Given the description of an element on the screen output the (x, y) to click on. 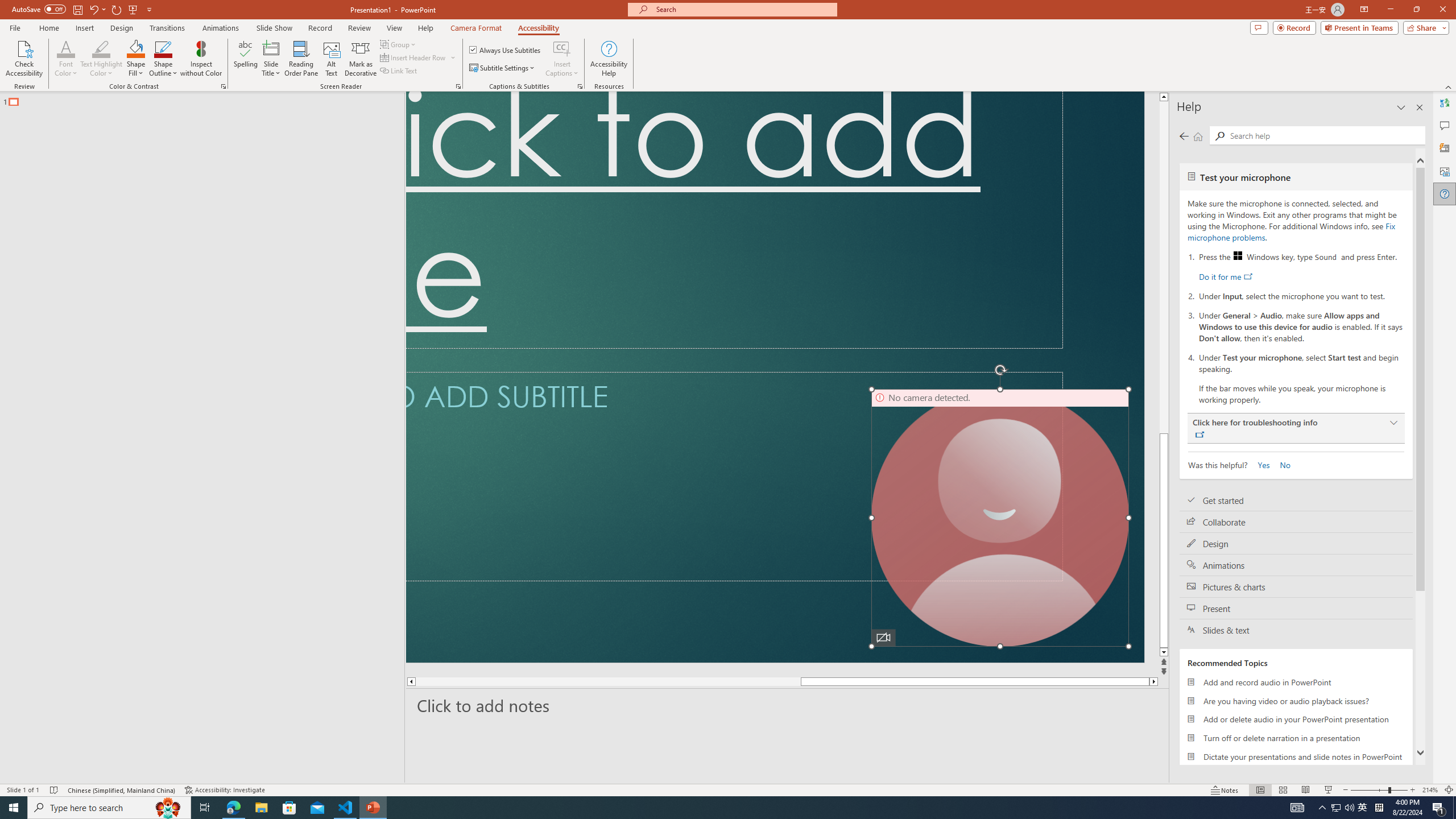
Do it for me (1225, 276)
Get started (1295, 500)
Add and record audio in PowerPoint (1295, 682)
Color & Contrast (223, 85)
Present (1295, 608)
